Given the description of an element on the screen output the (x, y) to click on. 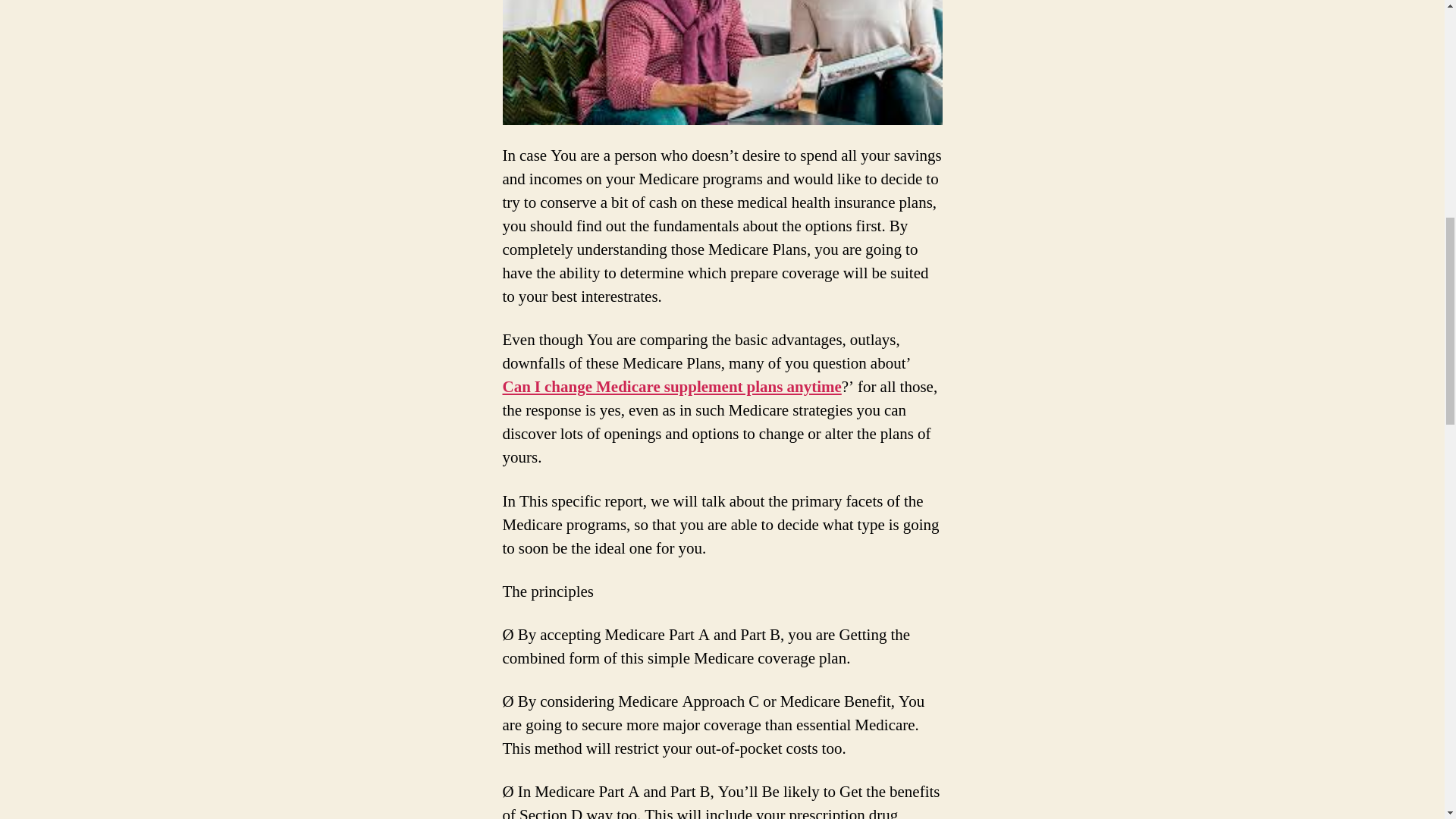
Can I change Medicare supplement plans anytime (671, 386)
